Given the description of an element on the screen output the (x, y) to click on. 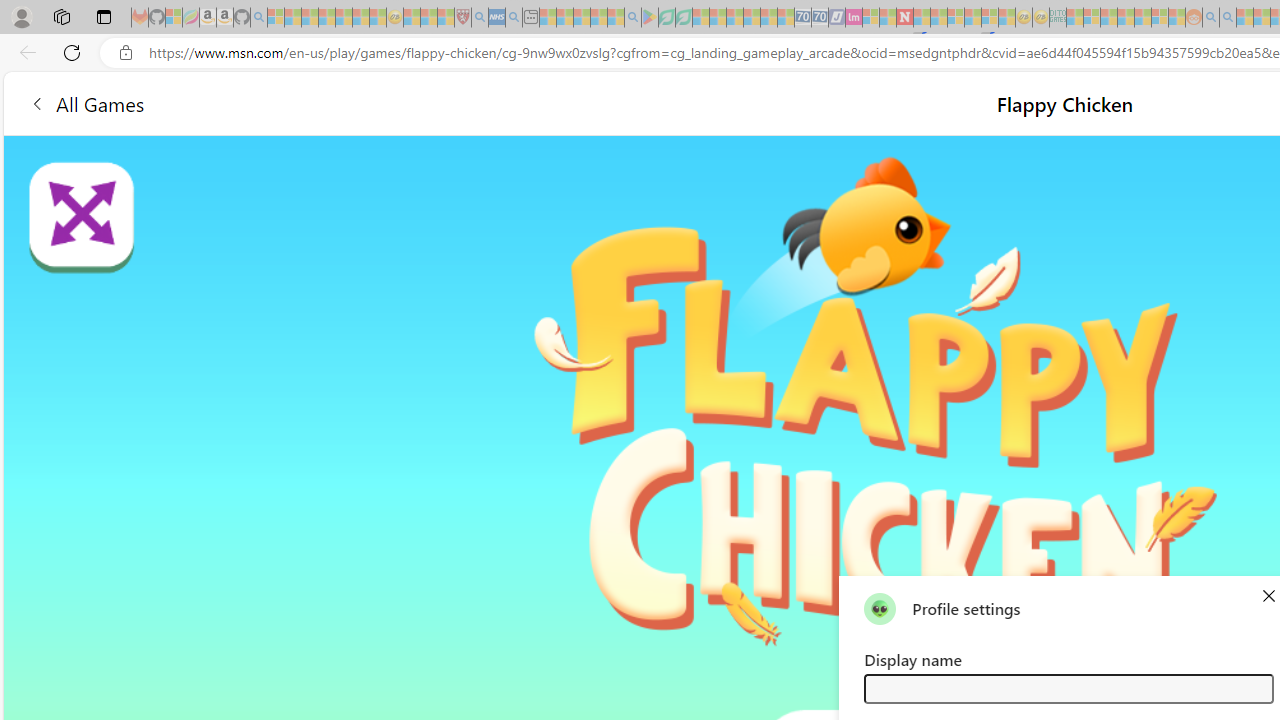
""'s avatar (880, 608)
Class: text-input (1068, 688)
google - Search - Sleeping (632, 17)
Expert Portfolios - Sleeping (1125, 17)
